Given the description of an element on the screen output the (x, y) to click on. 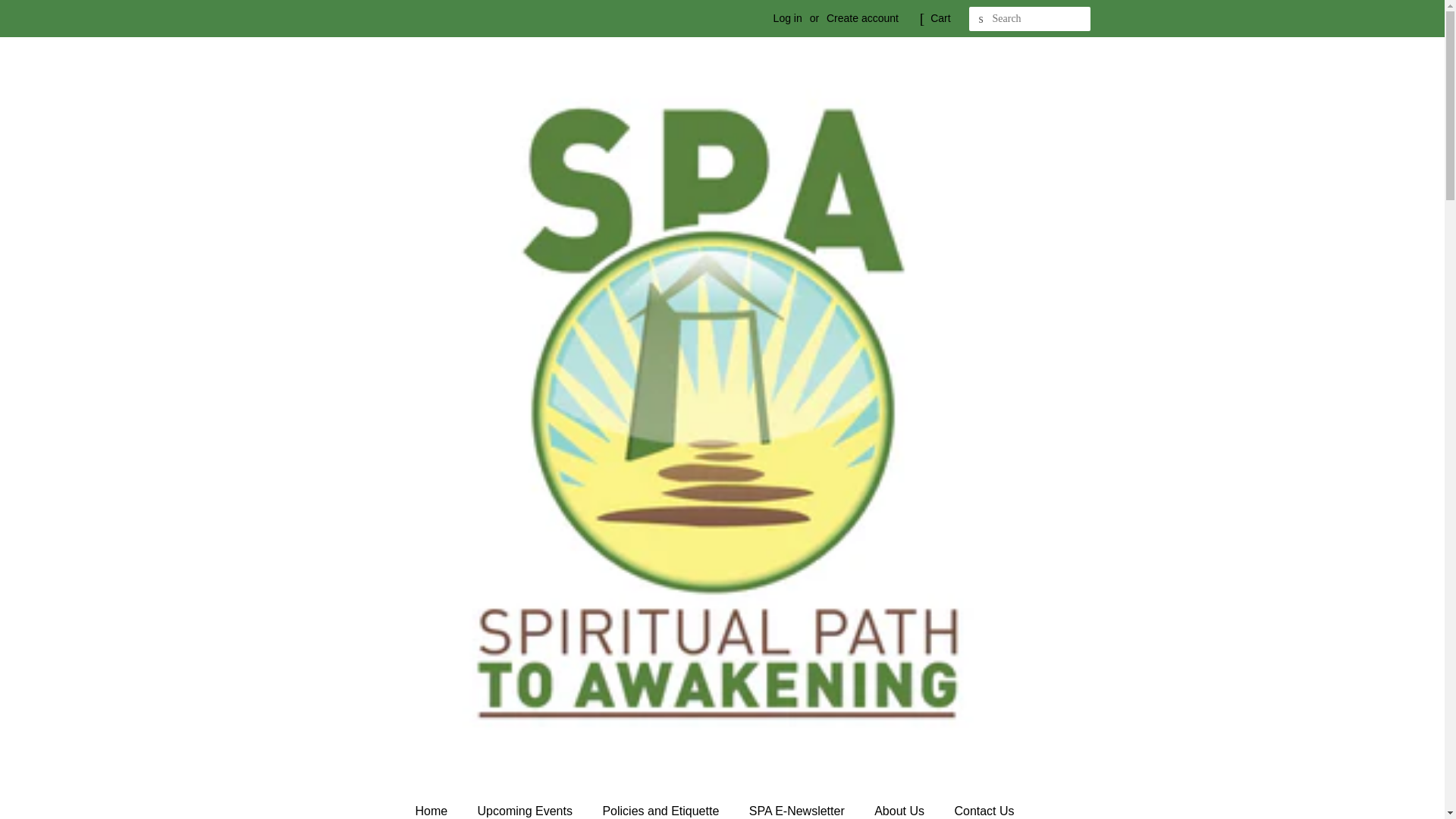
Log in (787, 18)
Home (438, 807)
Upcoming Events (526, 807)
About Us (901, 807)
Cart (940, 18)
Search (980, 18)
Create account (862, 18)
SPA E-Newsletter (799, 807)
Contact Us (985, 807)
Policies and Etiquette (662, 807)
